Given the description of an element on the screen output the (x, y) to click on. 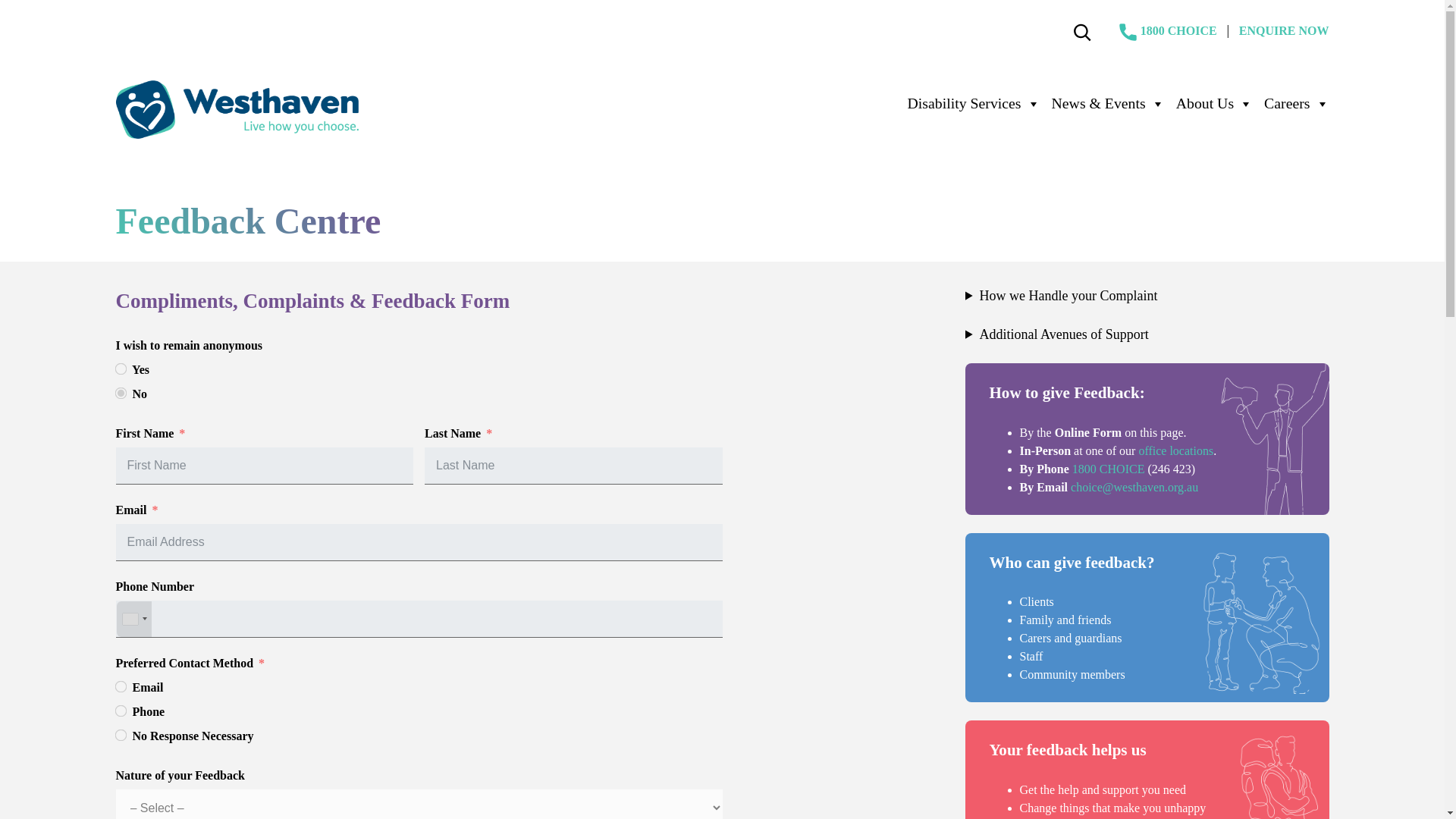
ENQUIRE NOW (1284, 30)
Disability Services (960, 103)
no (119, 392)
1800 CHOICE (1178, 30)
About Us (1200, 103)
No Response Necessary (119, 734)
Careers (1282, 103)
yes (119, 368)
Email (119, 685)
Phone (119, 709)
